Given the description of an element on the screen output the (x, y) to click on. 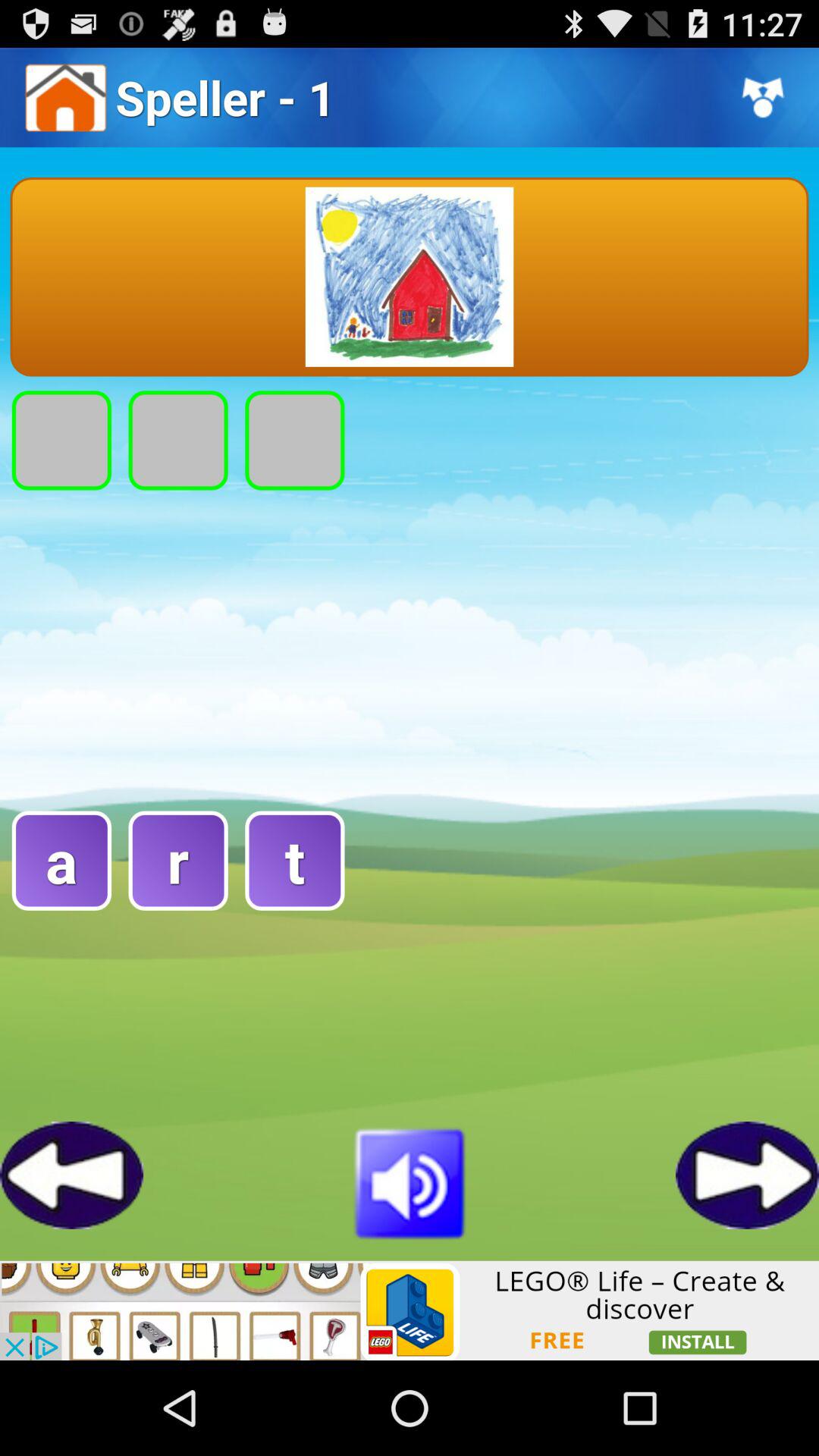
go forward (747, 1175)
